Given the description of an element on the screen output the (x, y) to click on. 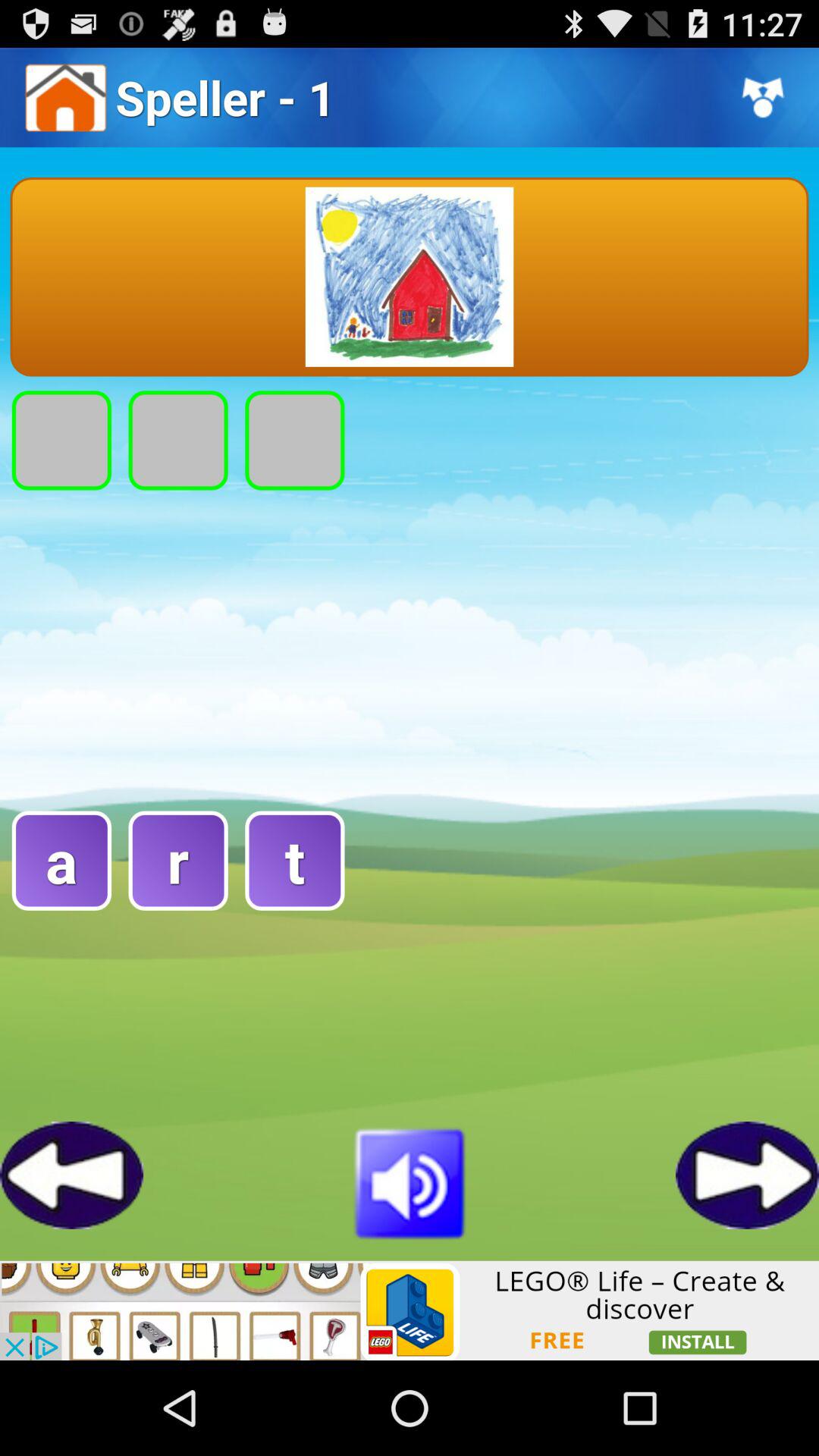
go forward (747, 1175)
